Given the description of an element on the screen output the (x, y) to click on. 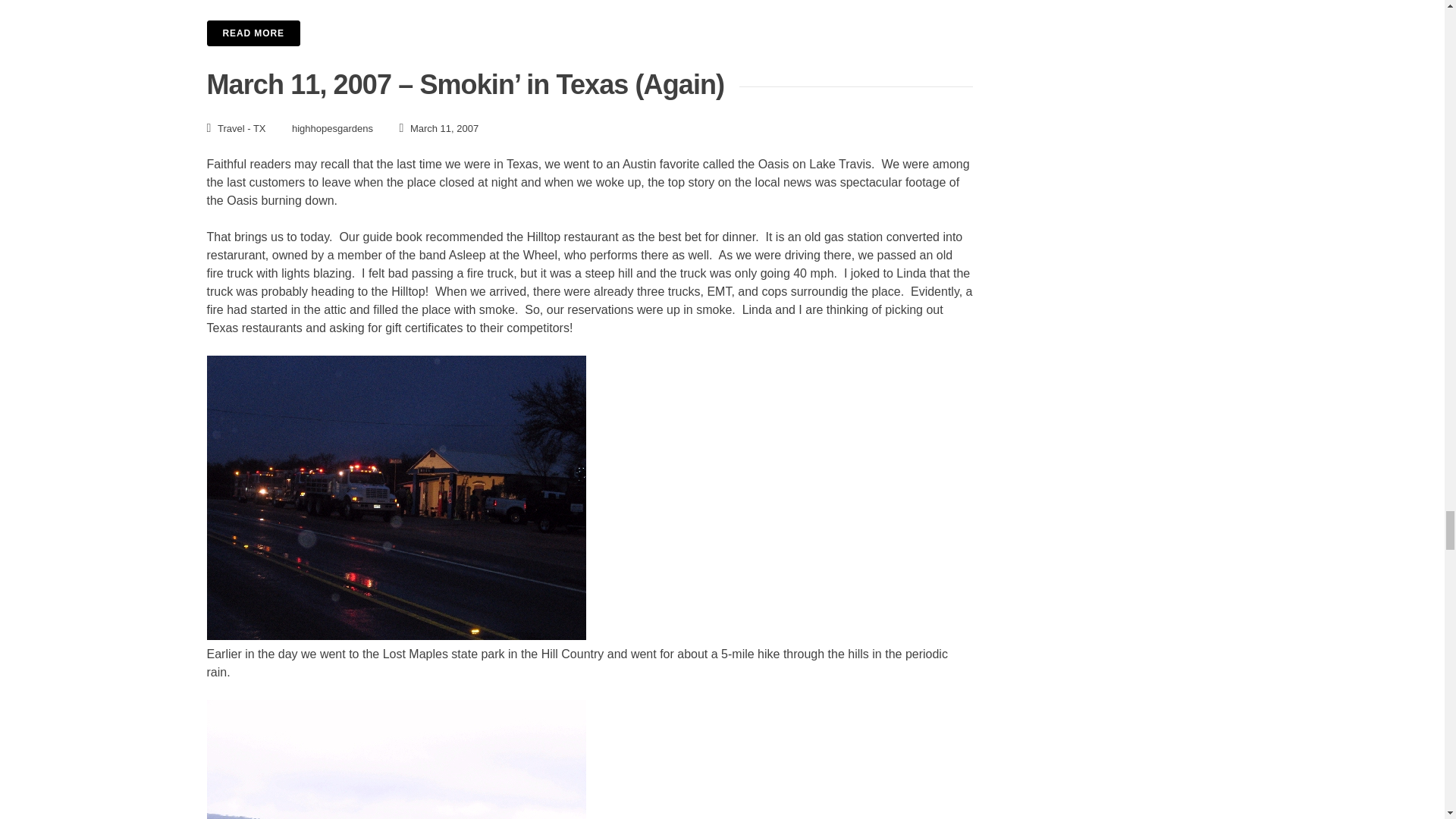
Oasis (280, 200)
READ MORE (589, 32)
